Given the description of an element on the screen output the (x, y) to click on. 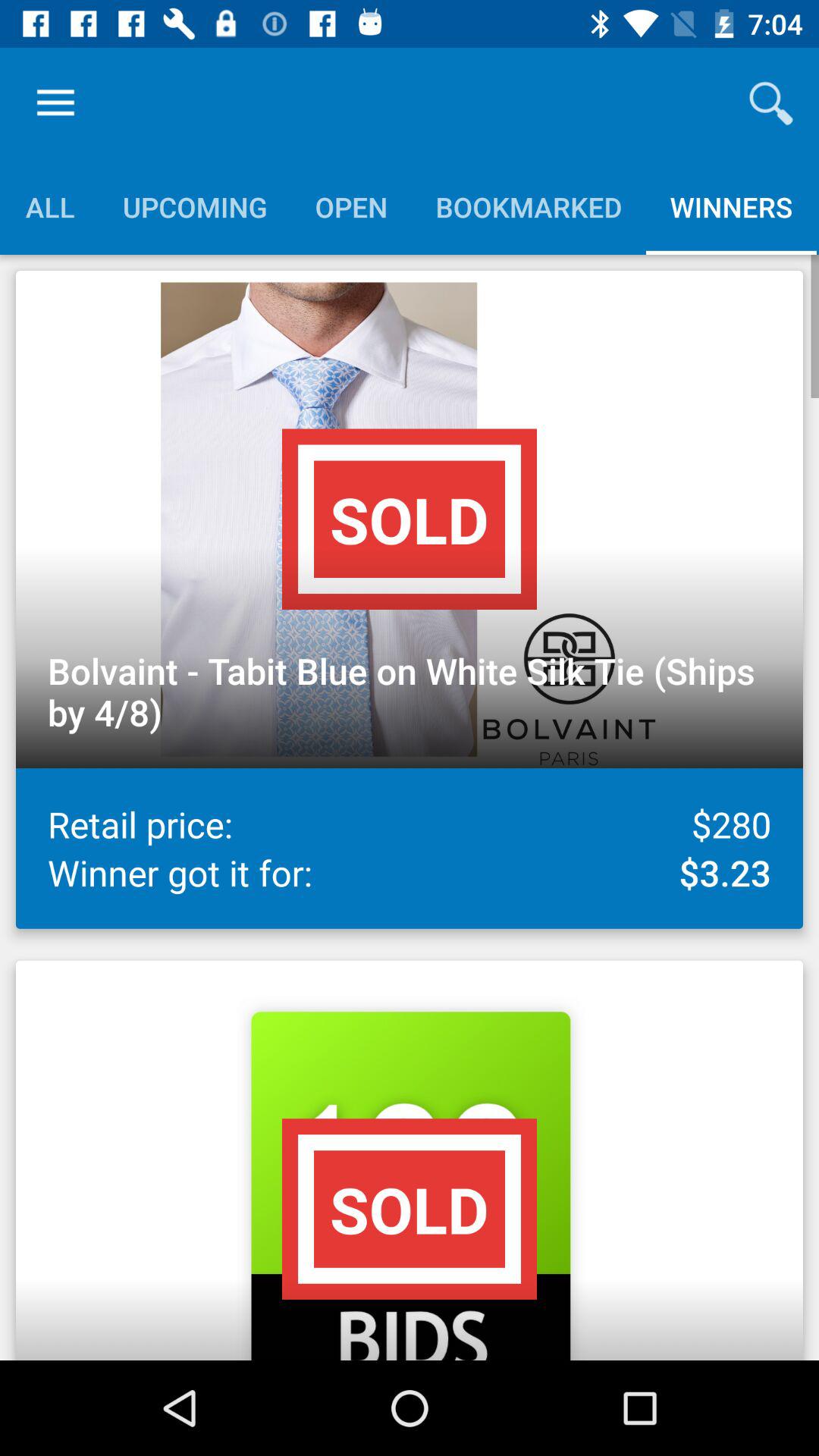
turn off icon above winners (771, 103)
